Given the description of an element on the screen output the (x, y) to click on. 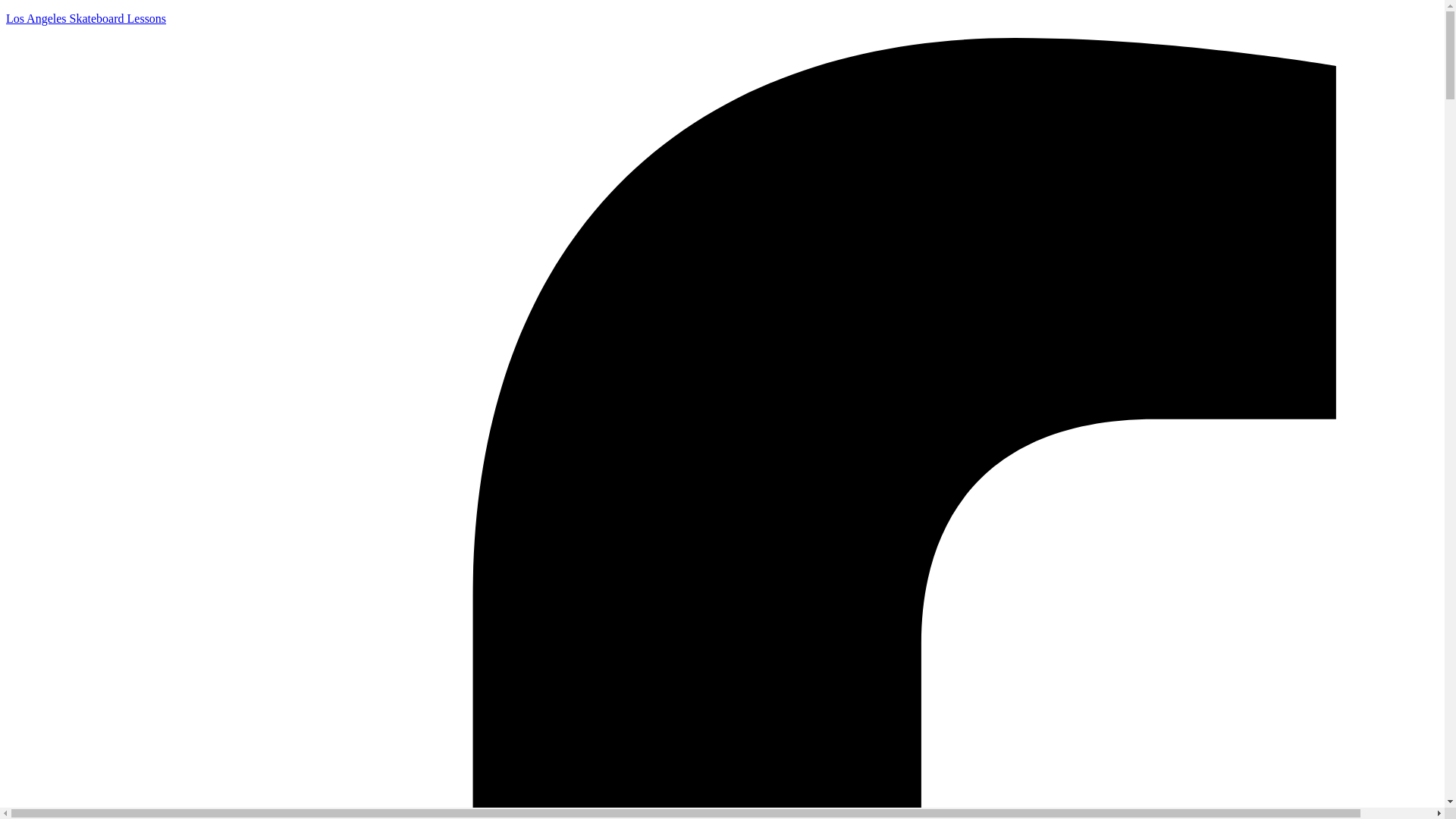
Los Angeles Skateboard Lessons (85, 18)
Los Angeles Skateboard Lessons (85, 18)
